Given the description of an element on the screen output the (x, y) to click on. 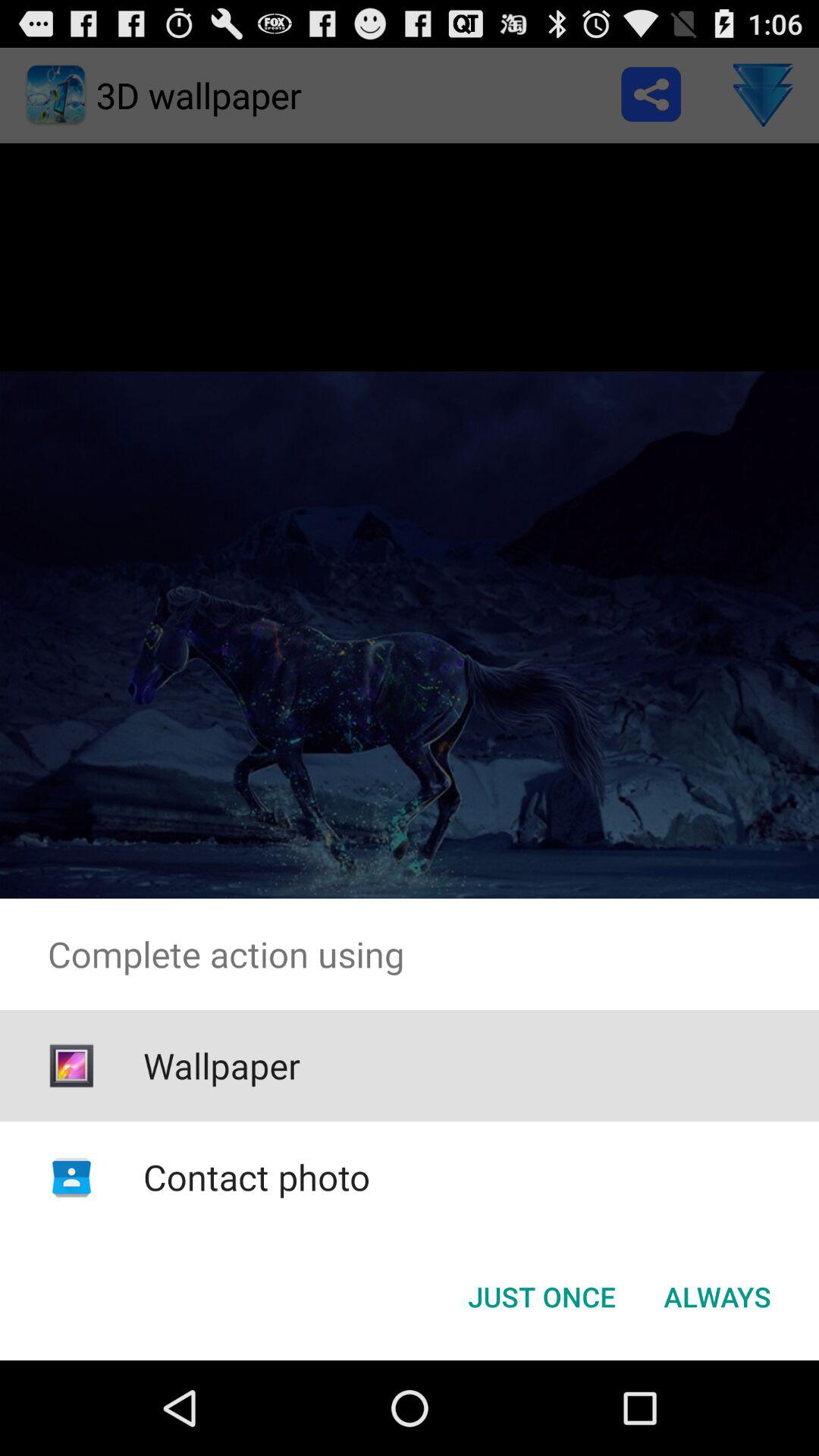
turn off app below the complete action using app (221, 1065)
